Given the description of an element on the screen output the (x, y) to click on. 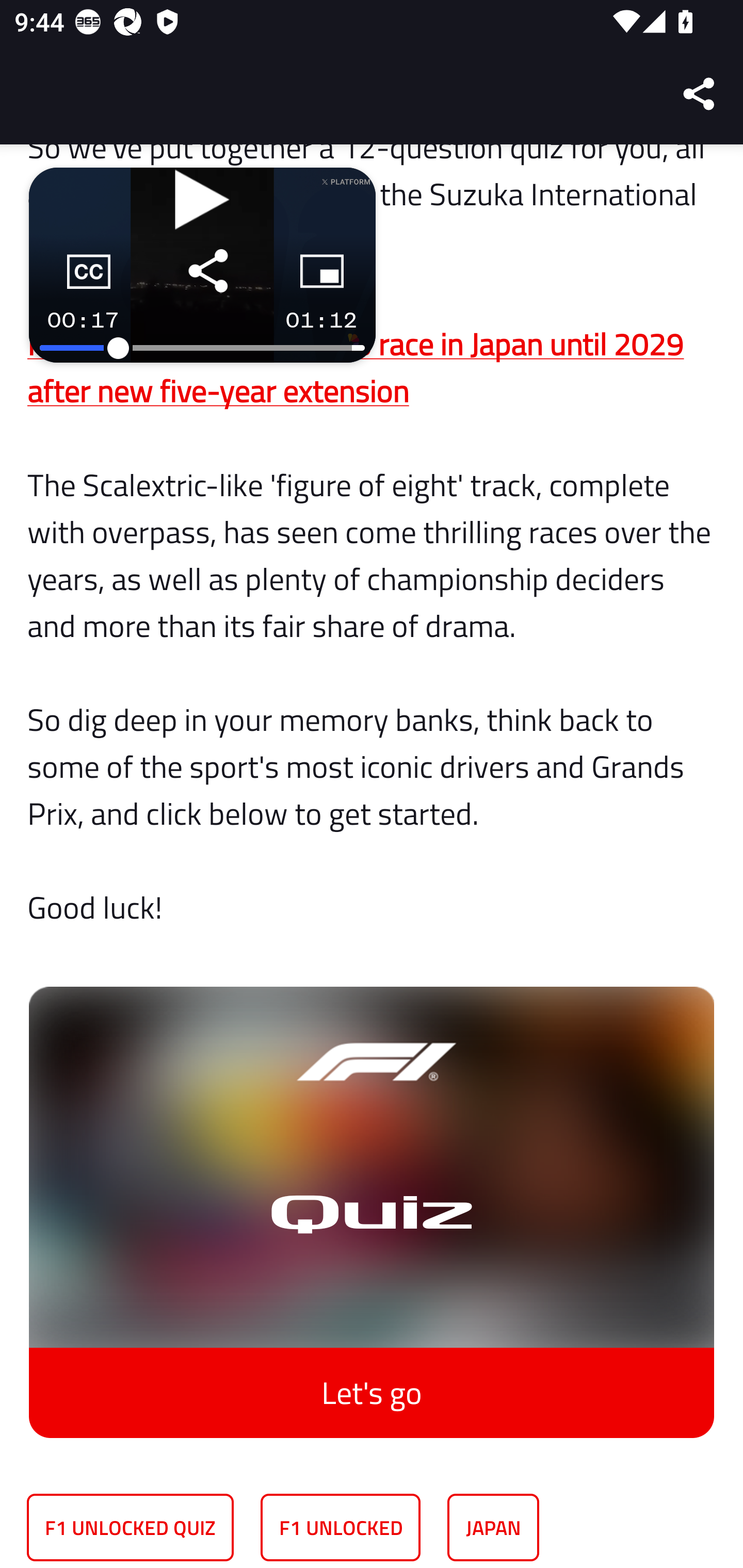
Share (699, 93)
Quiz Let's go (371, 1197)
F1 UNLOCKED F1 Unlocked. Double tap to activate (340, 1527)
JAPAN Japan. Double tap to activate (493, 1527)
